Given the description of an element on the screen output the (x, y) to click on. 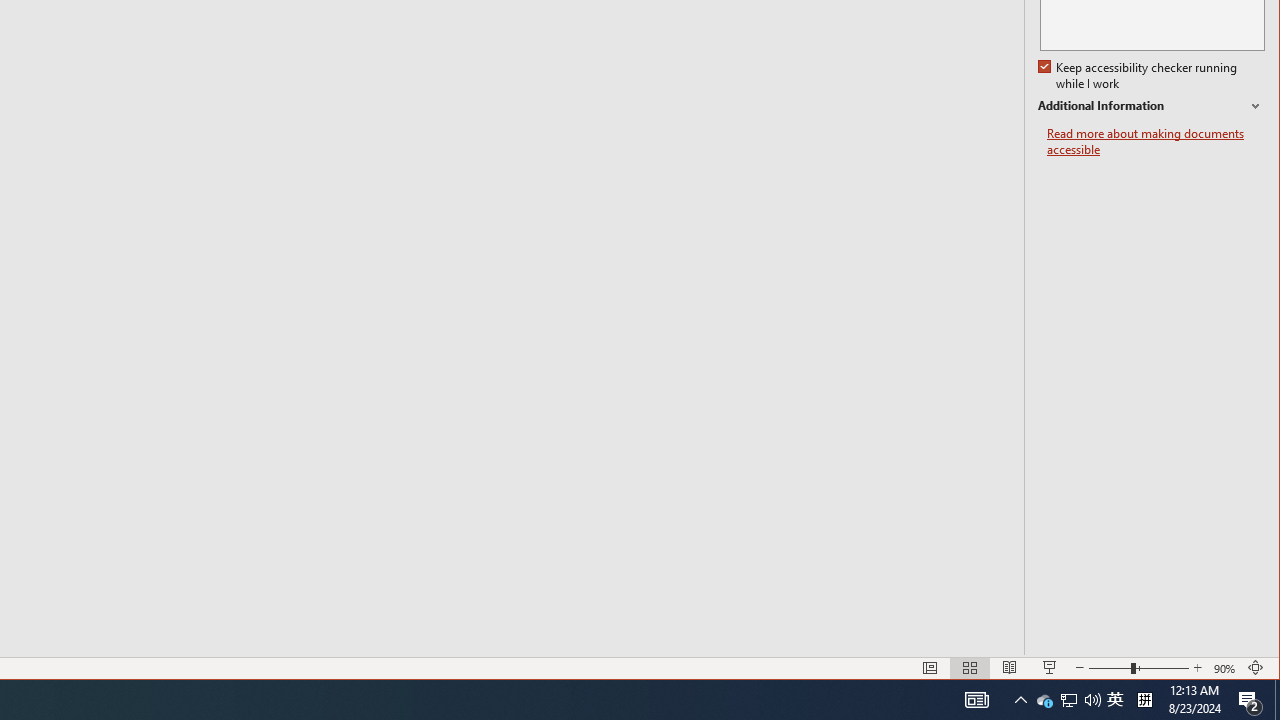
Read more about making documents accessible (1155, 142)
Additional Information (1151, 106)
Zoom 90% (1044, 699)
